Given the description of an element on the screen output the (x, y) to click on. 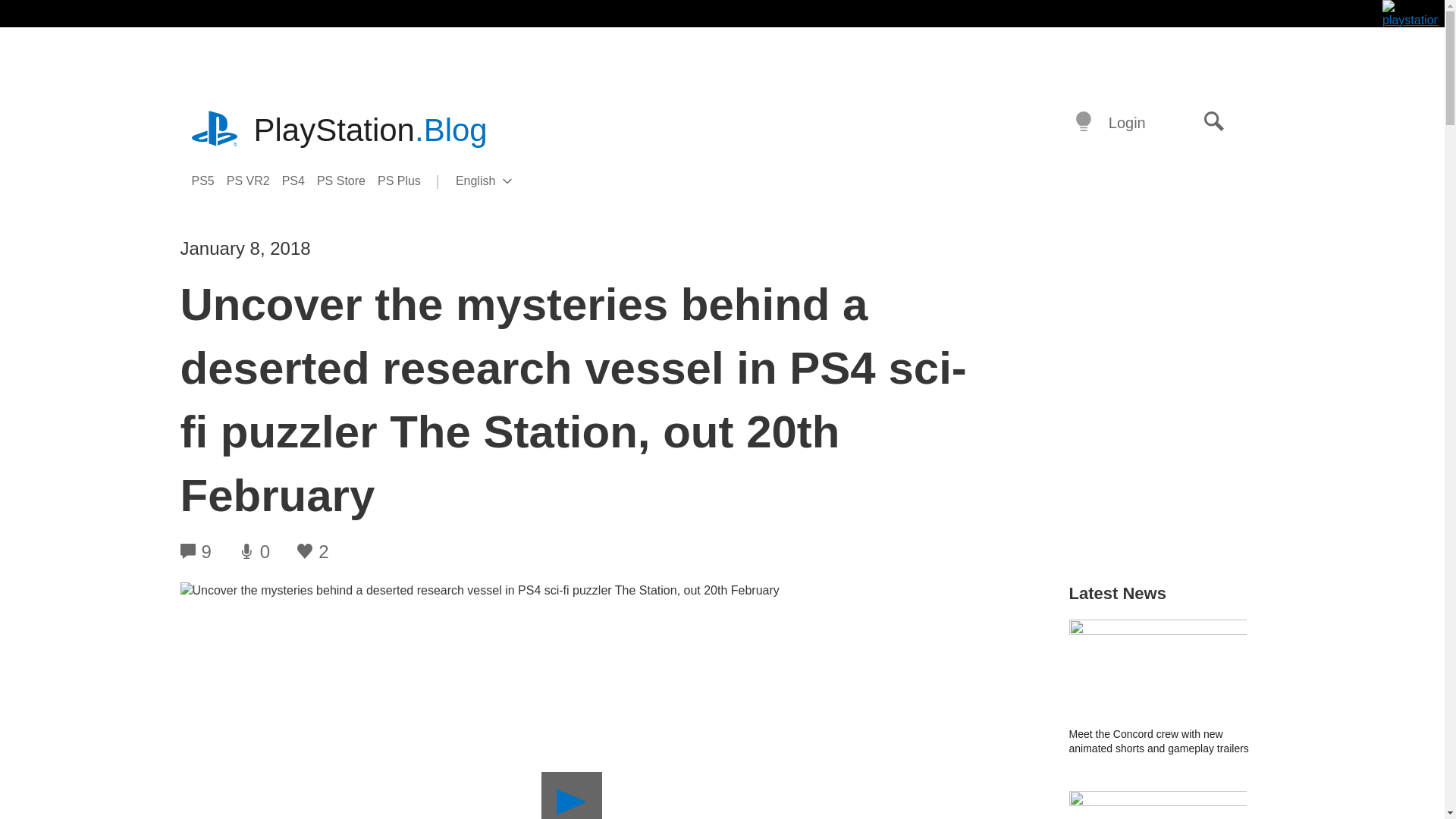
Login (1126, 121)
PlayStation.Blog (369, 130)
PS4 (299, 181)
playstation.com (215, 130)
PS VR2 (508, 180)
PS Plus (254, 181)
Skip to content (404, 181)
PS Store (207, 181)
Search (347, 181)
